Given the description of an element on the screen output the (x, y) to click on. 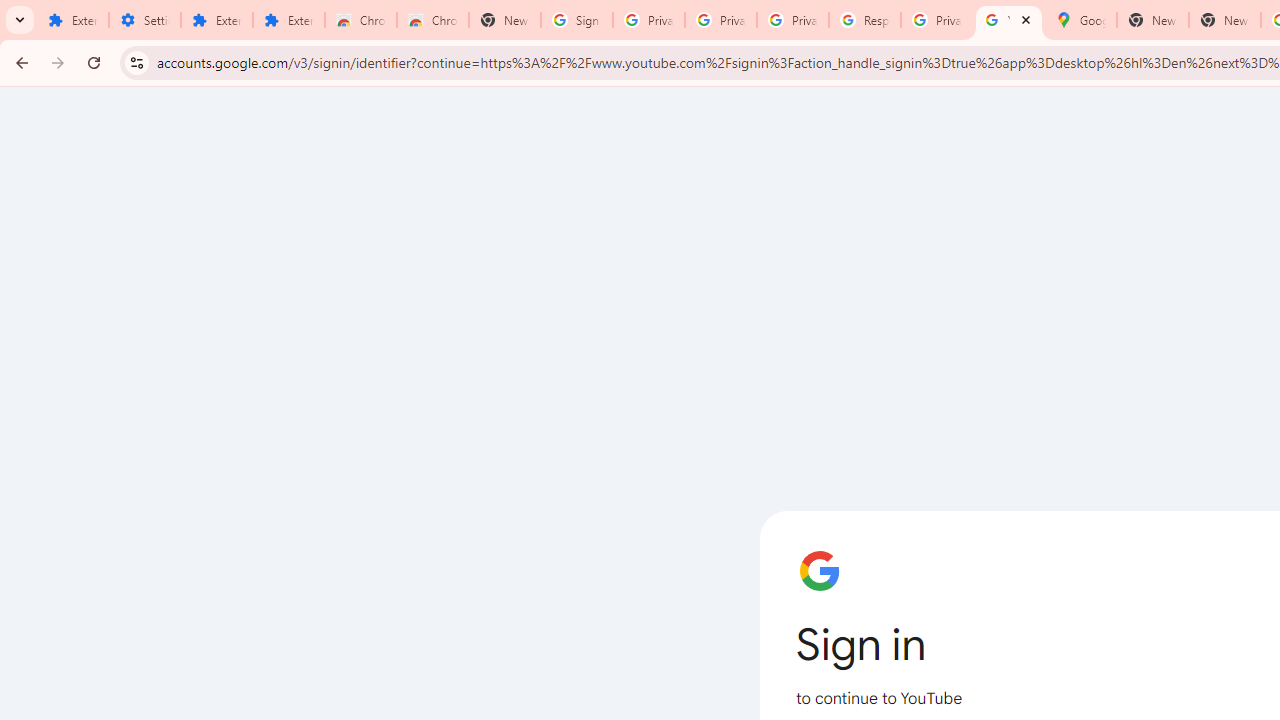
Extensions (72, 20)
Chrome Web Store - Themes (432, 20)
Chrome Web Store (360, 20)
New Tab (504, 20)
